Given the description of an element on the screen output the (x, y) to click on. 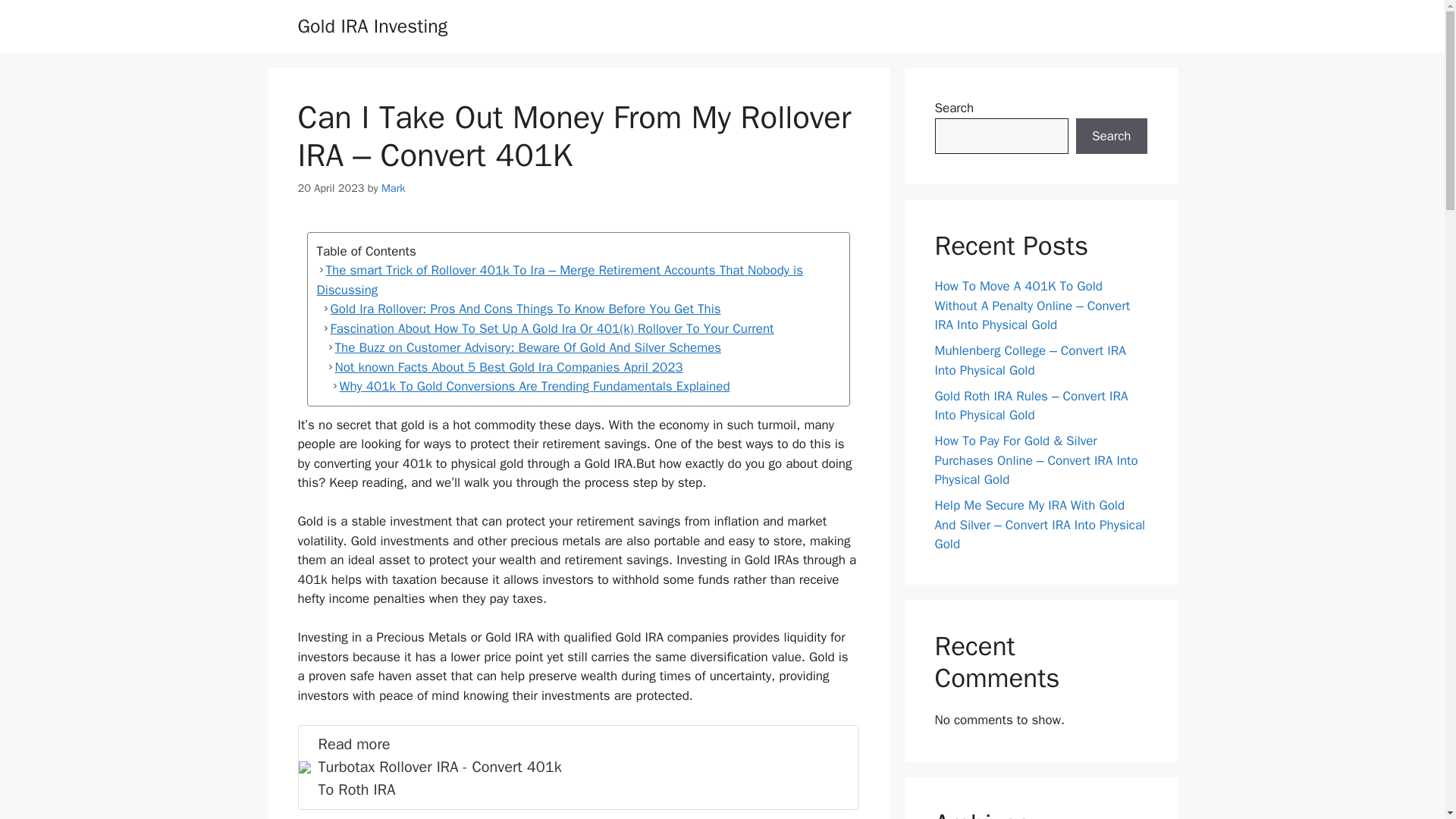
Search (1111, 135)
Gold IRA Investing (371, 25)
Not known Facts About 5 Best Gold Ira Companies April 2023 (578, 367)
Mark (392, 187)
View all posts by Mark (578, 766)
